Given the description of an element on the screen output the (x, y) to click on. 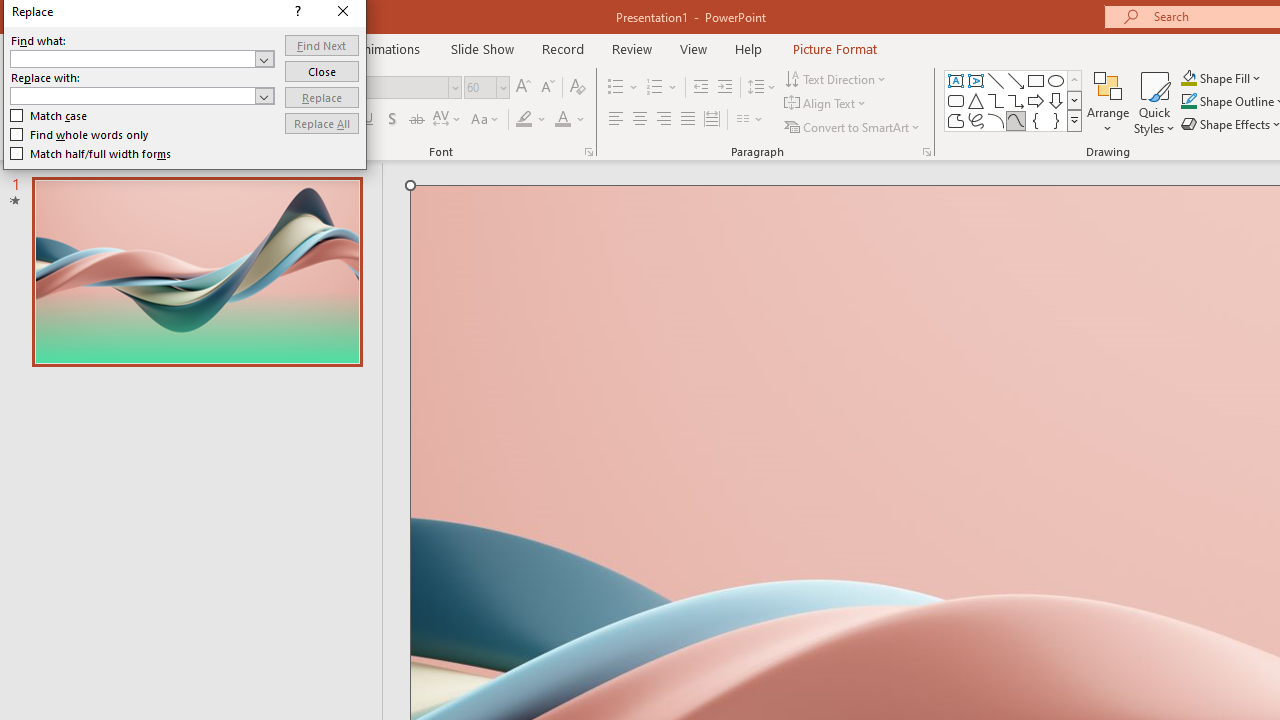
Increase Indent (725, 87)
Font Color Red (562, 119)
Find Next (321, 44)
Font Size (480, 87)
Vertical Text Box (975, 80)
